Given the description of an element on the screen output the (x, y) to click on. 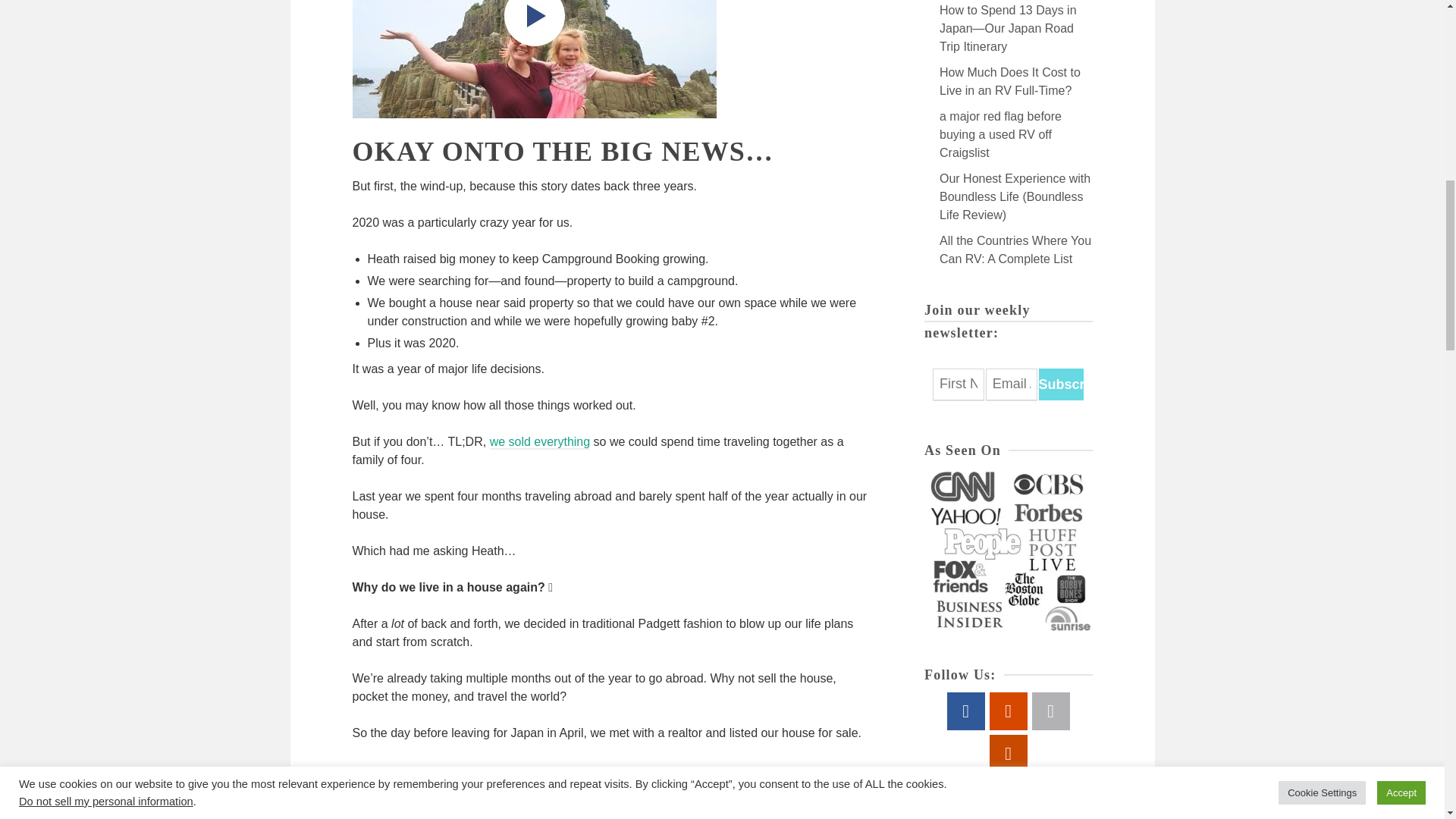
we sold everything (540, 441)
